Given the description of an element on the screen output the (x, y) to click on. 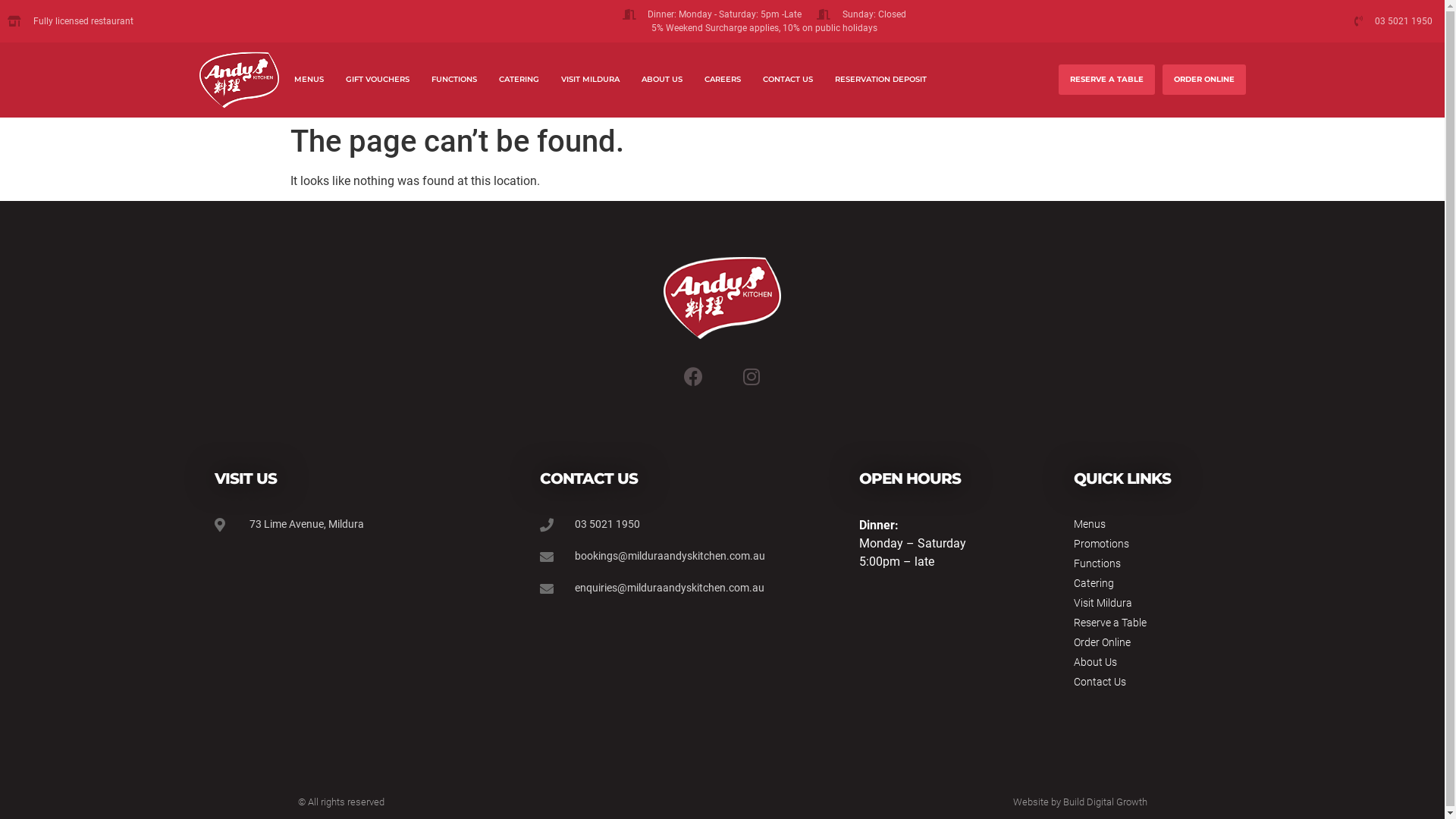
Functions Element type: text (1151, 563)
ABOUT US Element type: text (661, 79)
Contact Us Element type: text (1151, 682)
CATERING Element type: text (518, 79)
About Us Element type: text (1151, 662)
03 5021 1950 Element type: text (1331, 21)
MENUS Element type: text (308, 79)
Reserve a Table Element type: text (1151, 622)
Promotions Element type: text (1151, 544)
RESERVE A TABLE Element type: text (1106, 79)
bookings@milduraandyskitchen.com.au Element type: text (676, 556)
Visit Mildura Element type: text (1151, 603)
Menus Element type: text (1151, 524)
FUNCTIONS Element type: text (453, 79)
enquiries@milduraandyskitchen.com.au Element type: text (676, 588)
VISIT MILDURA Element type: text (590, 79)
Catering Element type: text (1151, 583)
CONTACT US Element type: text (787, 79)
CAREERS Element type: text (722, 79)
Website by Build Digital Growth Element type: text (1080, 801)
ORDER ONLINE Element type: text (1203, 79)
GIFT VOUCHERS Element type: text (377, 79)
Order Online Element type: text (1151, 642)
RESERVATION DEPOSIT Element type: text (880, 79)
